Given the description of an element on the screen output the (x, y) to click on. 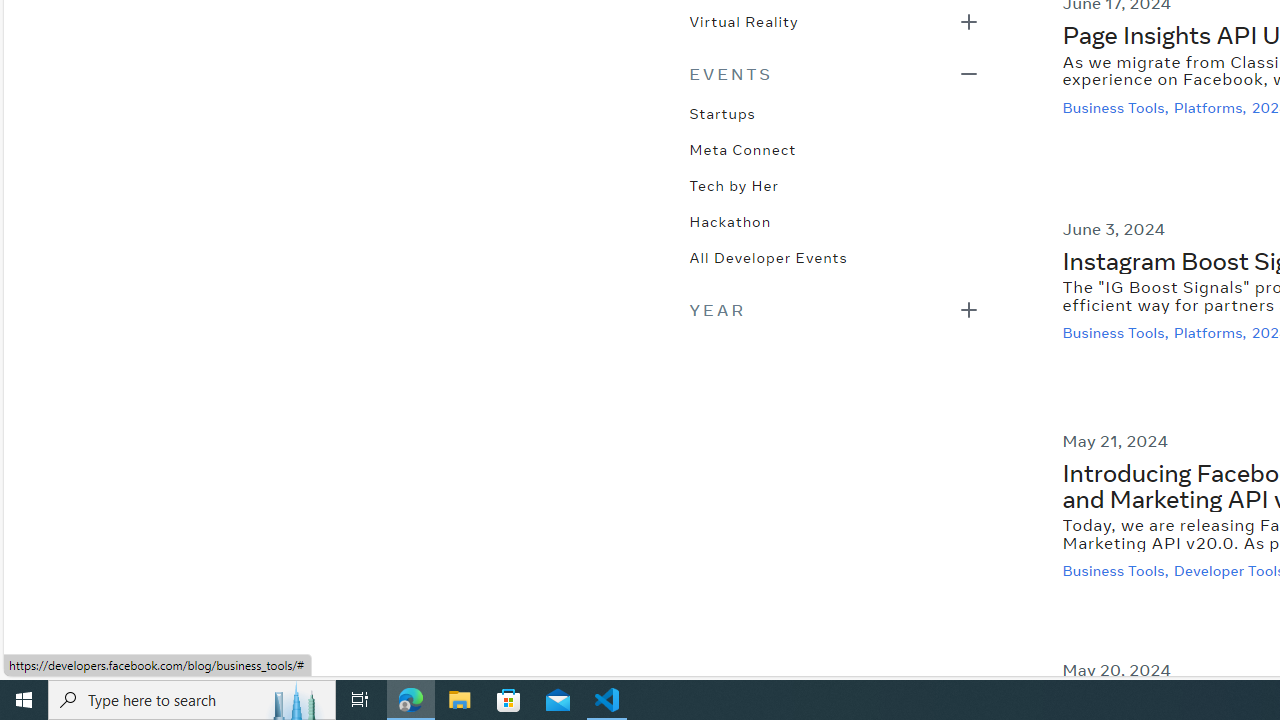
Virtual Reality (743, 19)
Class: _98ex _98ez (834, 27)
Class: _9890 _98ey (834, 73)
All Developer Events (767, 255)
Business Tools, (1117, 571)
Startups (722, 111)
Hackathon (729, 219)
Class: _98ex (834, 263)
Meta Connect (742, 147)
Class: _9890 _98ez (834, 308)
Tech by Her (733, 183)
Platforms, (1211, 333)
